Given the description of an element on the screen output the (x, y) to click on. 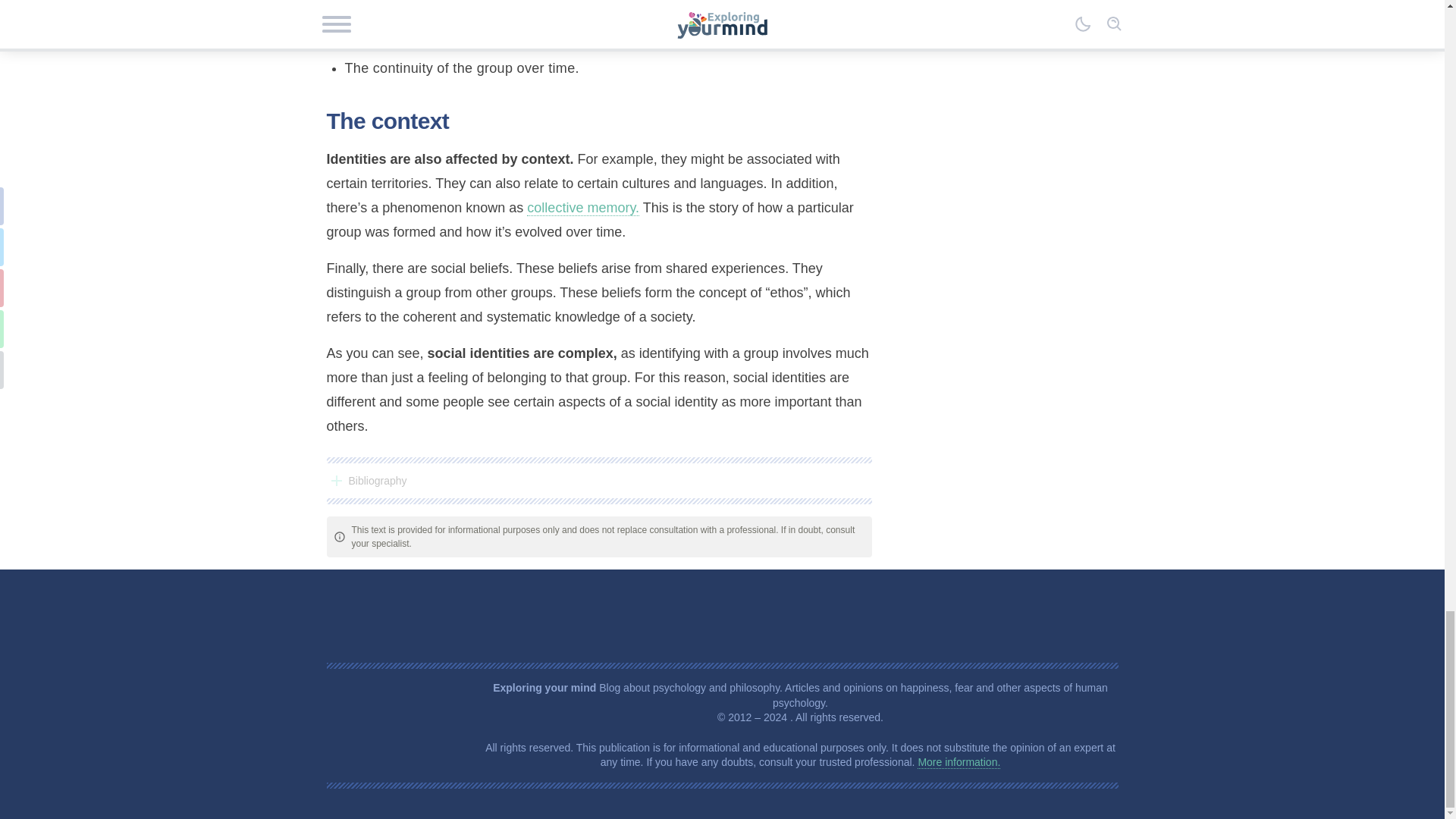
collective memory. (583, 207)
Bibliography (598, 480)
More information. (958, 762)
